Given the description of an element on the screen output the (x, y) to click on. 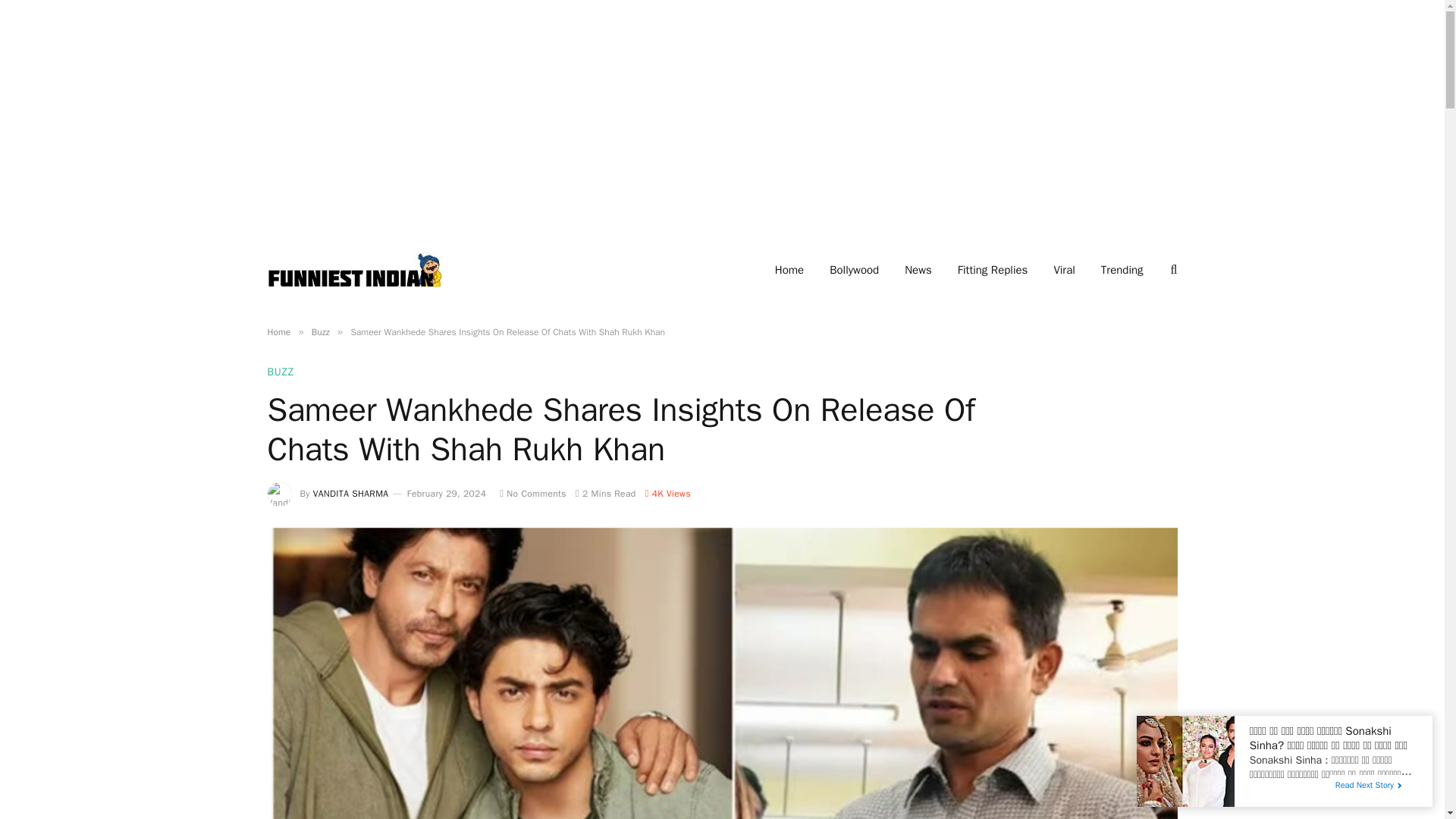
VANDITA SHARMA (350, 493)
No Comments (532, 493)
Funniest Indian (354, 270)
Trending (1121, 270)
BUZZ (280, 371)
Search (1172, 270)
Bollywood (853, 270)
News (917, 270)
Home (277, 331)
Posts by Vandita Sharma (350, 493)
3581 Article Views (667, 493)
Buzz (320, 331)
Viral (1064, 270)
